Given the description of an element on the screen output the (x, y) to click on. 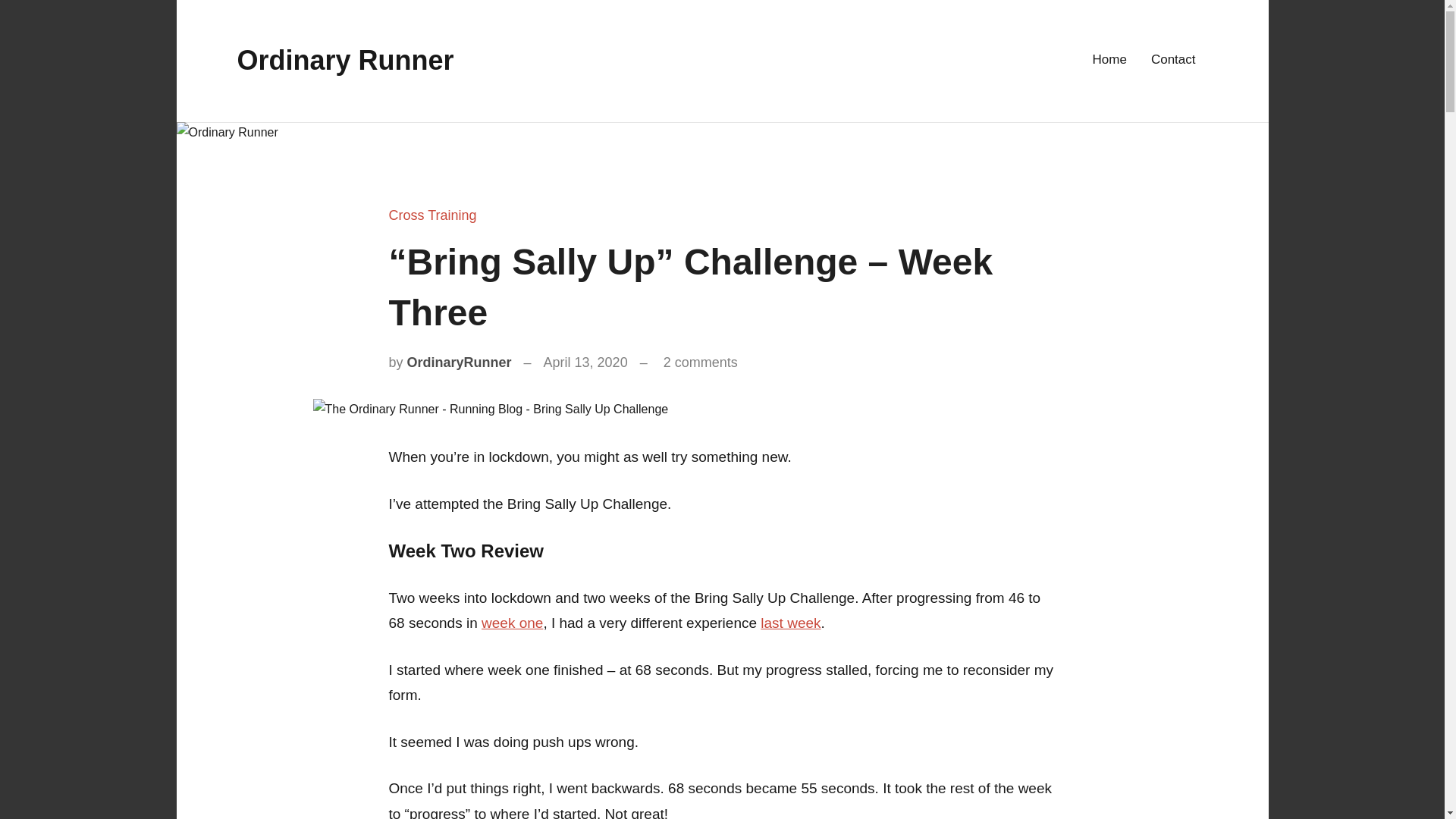
last week (790, 622)
OrdinaryRunner (459, 362)
Cross Training (432, 215)
Contact (1173, 60)
View all posts by OrdinaryRunner (459, 362)
Home (1109, 60)
Ordinary Runner (343, 60)
2 comments (700, 362)
April 13, 2020 (585, 362)
week one (512, 622)
